Given the description of an element on the screen output the (x, y) to click on. 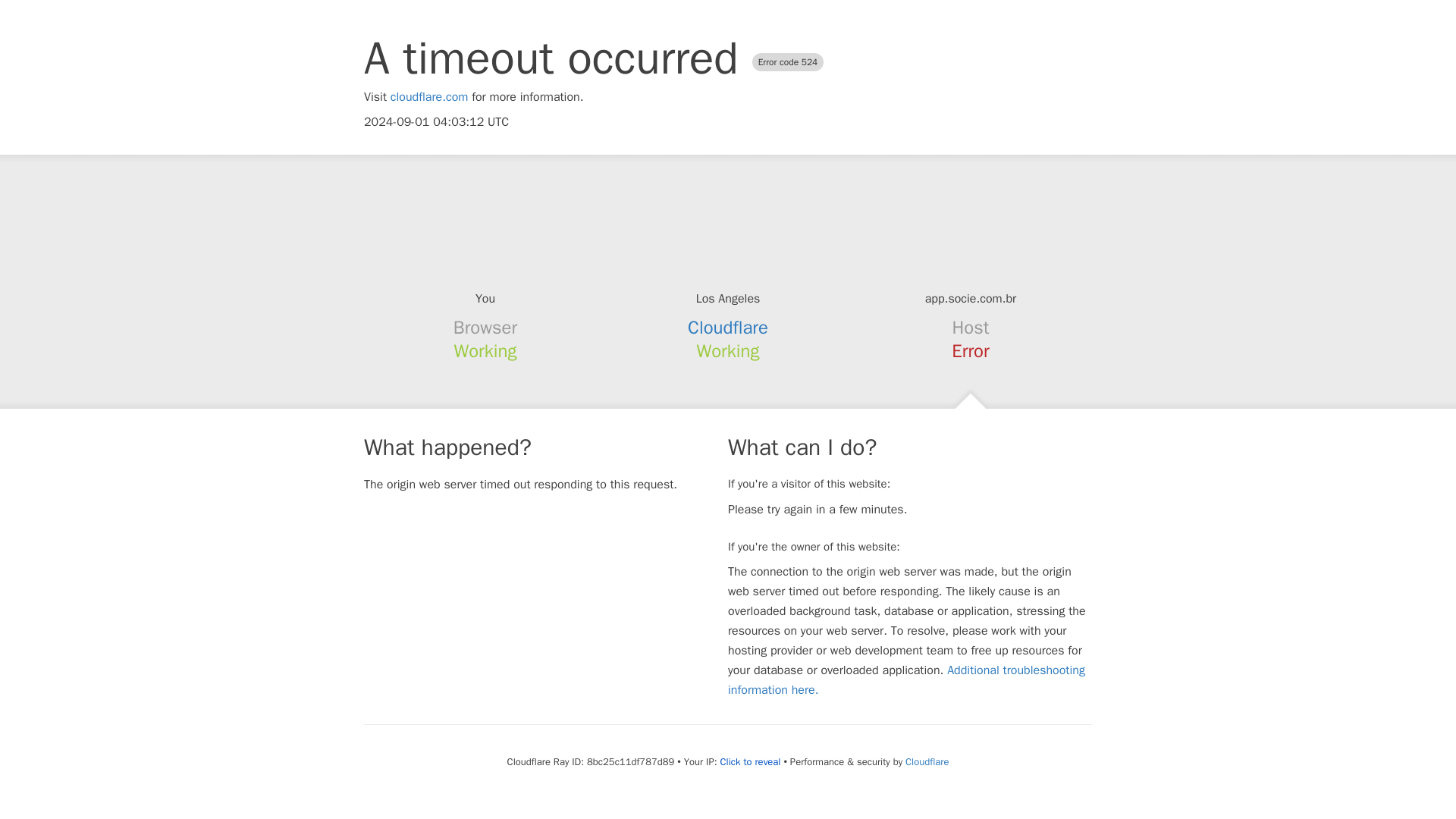
Cloudflare (927, 761)
Click to reveal (750, 762)
Additional troubleshooting information here. (906, 679)
Cloudflare (727, 327)
cloudflare.com (429, 96)
